Given the description of an element on the screen output the (x, y) to click on. 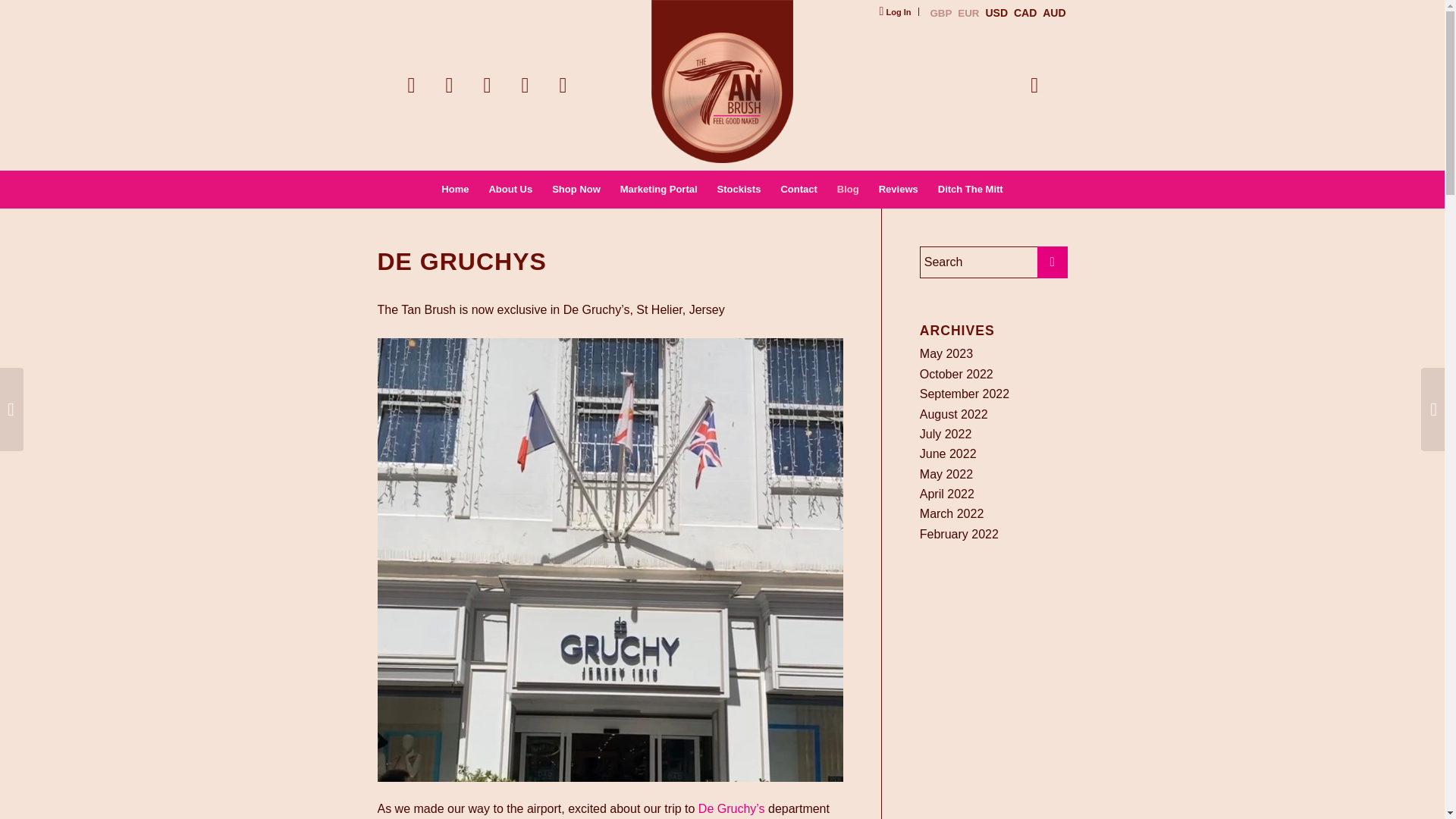
Blog (848, 189)
Tiktok (524, 84)
Log In (895, 12)
EUR (968, 12)
Ditch The Mitt (970, 189)
Stockists (739, 189)
Contact (798, 189)
Facebook (448, 84)
CAD (1024, 12)
GBP (941, 12)
